Given the description of an element on the screen output the (x, y) to click on. 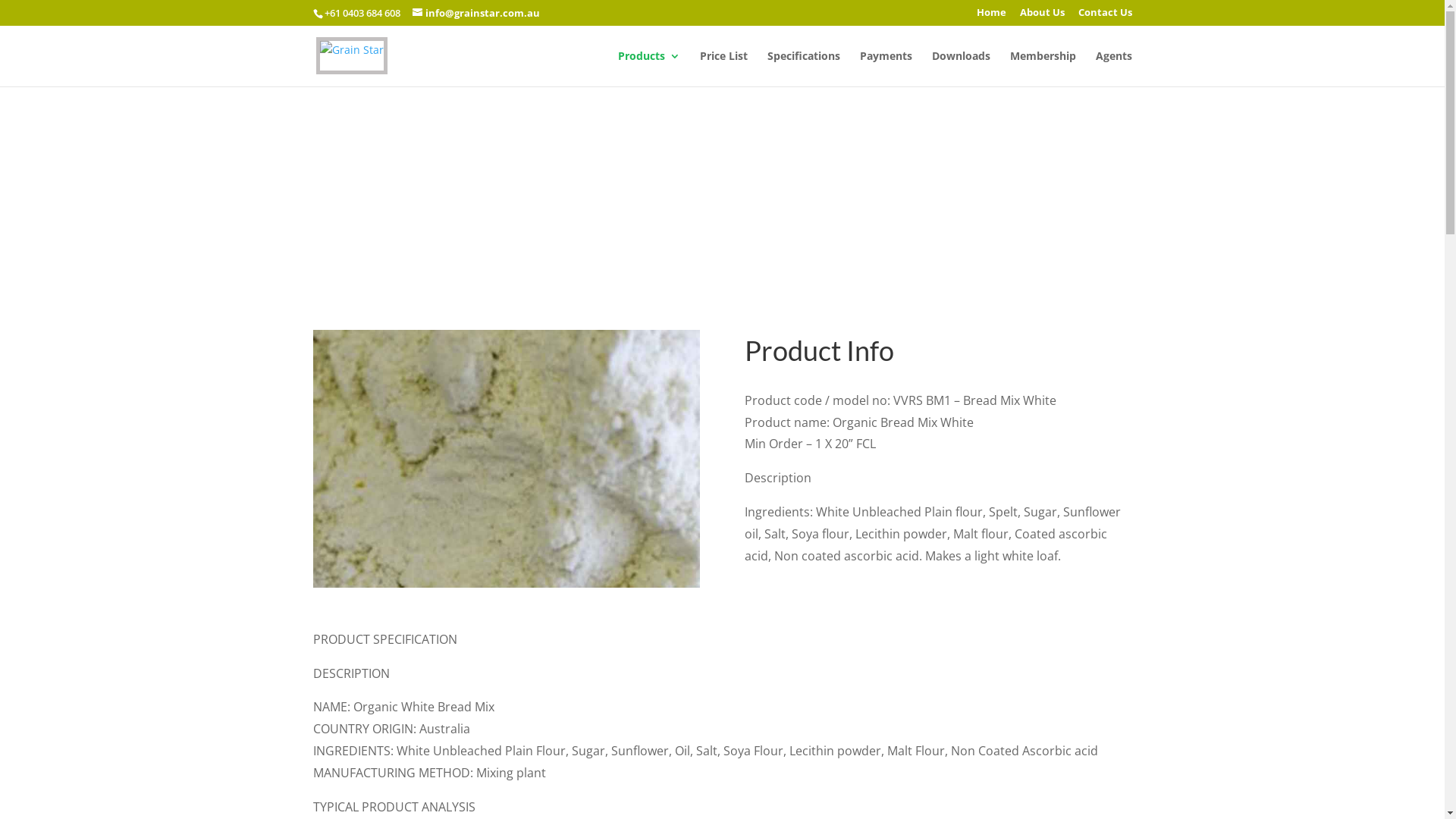
Membership Element type: text (1043, 67)
Products Element type: text (648, 67)
Home Element type: text (991, 16)
Contact Us Element type: text (1105, 16)
Agents Element type: text (1113, 67)
info@grainstar.com.au Element type: text (475, 12)
Price List Element type: text (722, 67)
Downloads Element type: text (960, 67)
Payments Element type: text (885, 67)
Specifications Element type: text (803, 67)
About Us Element type: text (1041, 16)
